Given the description of an element on the screen output the (x, y) to click on. 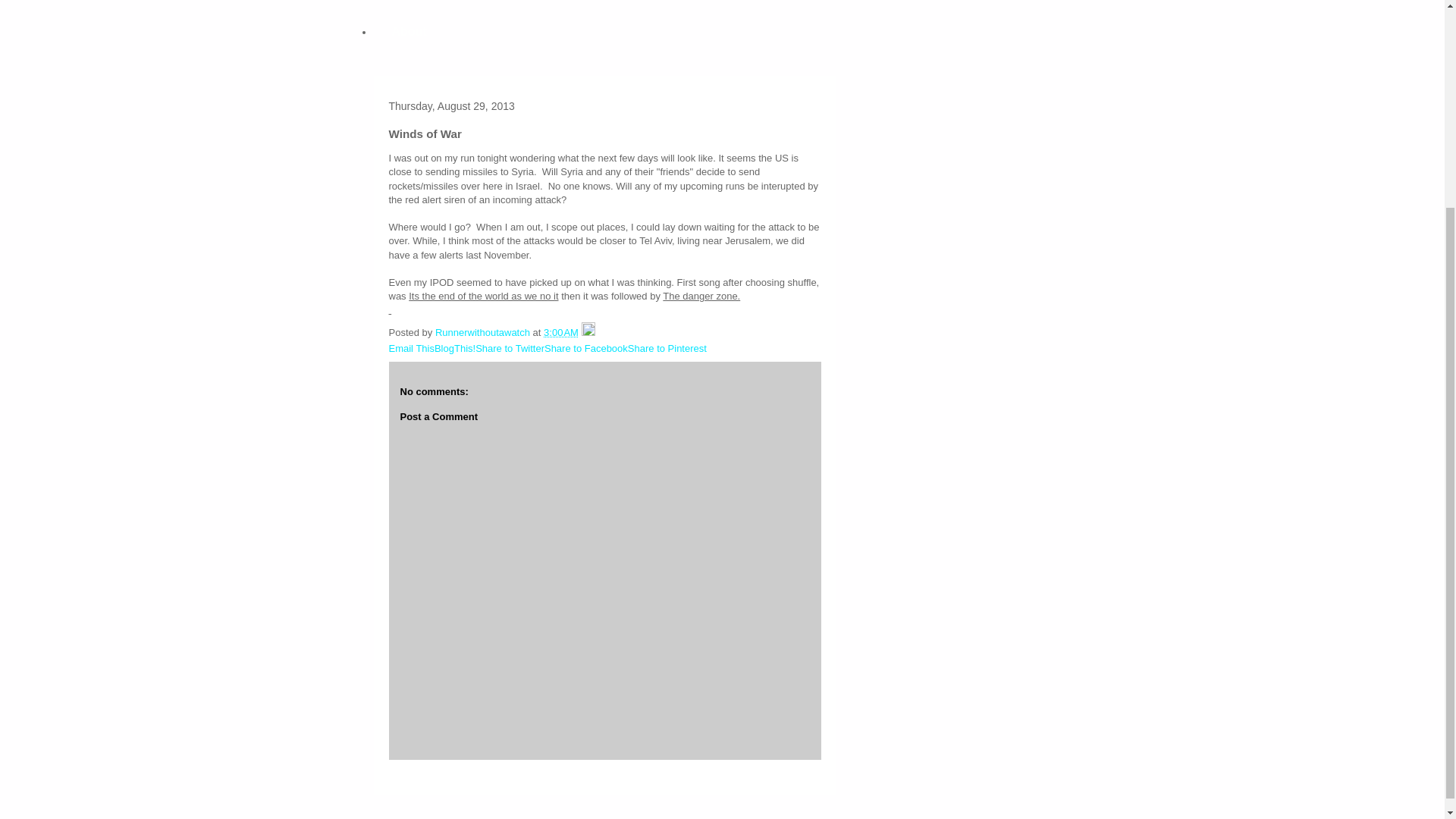
Share to Pinterest (666, 348)
Share to Twitter (510, 348)
BlogThis! (454, 348)
permanent link (560, 332)
Gear (404, 6)
Share to Facebook (585, 348)
author profile (483, 332)
About (408, 31)
Runnerwithoutawatch (483, 332)
BlogThis! (454, 348)
Share to Facebook (585, 348)
Email This (410, 348)
Edit Post (587, 332)
Email This (410, 348)
